Given the description of an element on the screen output the (x, y) to click on. 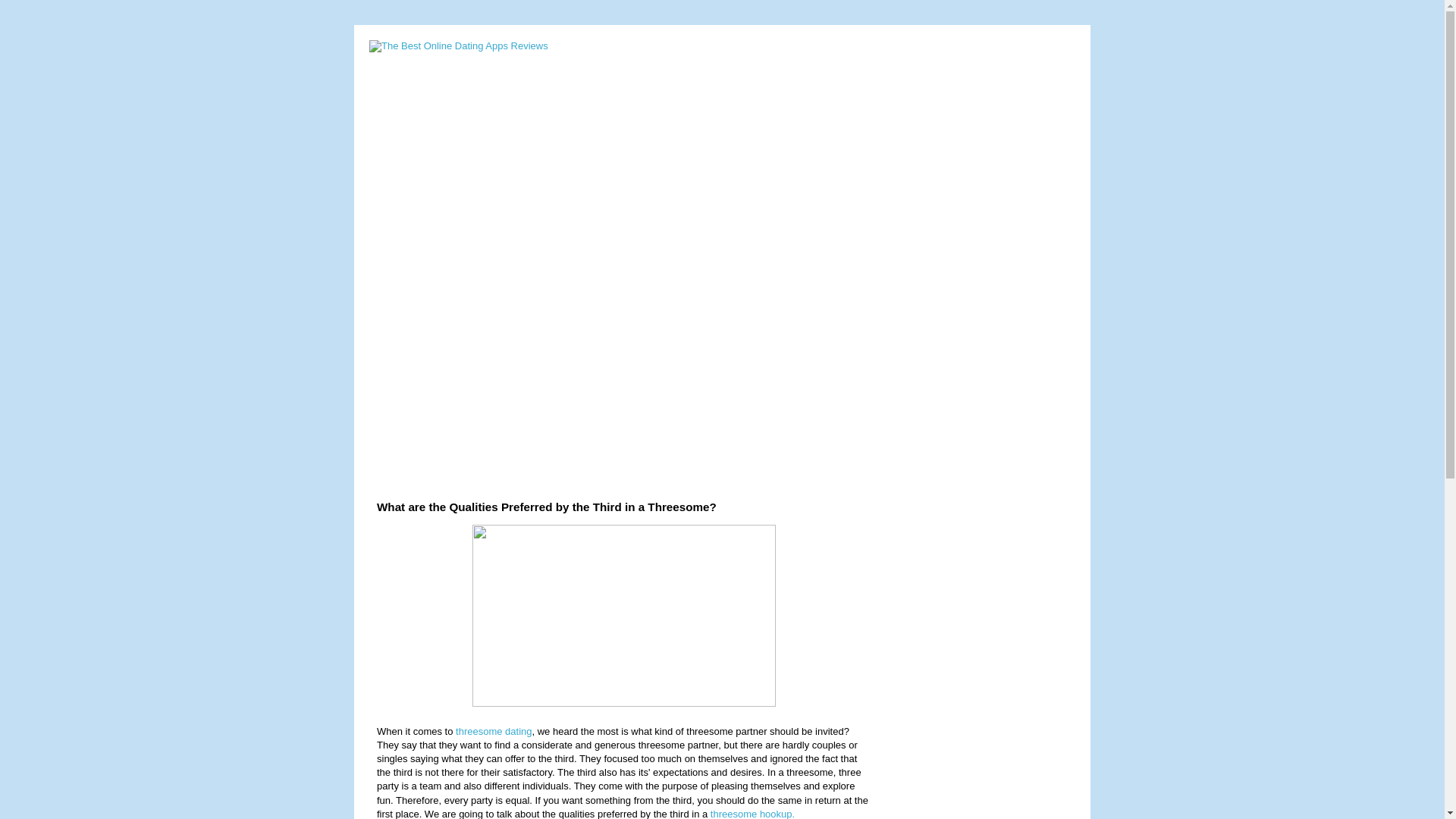
threesome hookup. (750, 813)
threesome dating (493, 731)
